Given the description of an element on the screen output the (x, y) to click on. 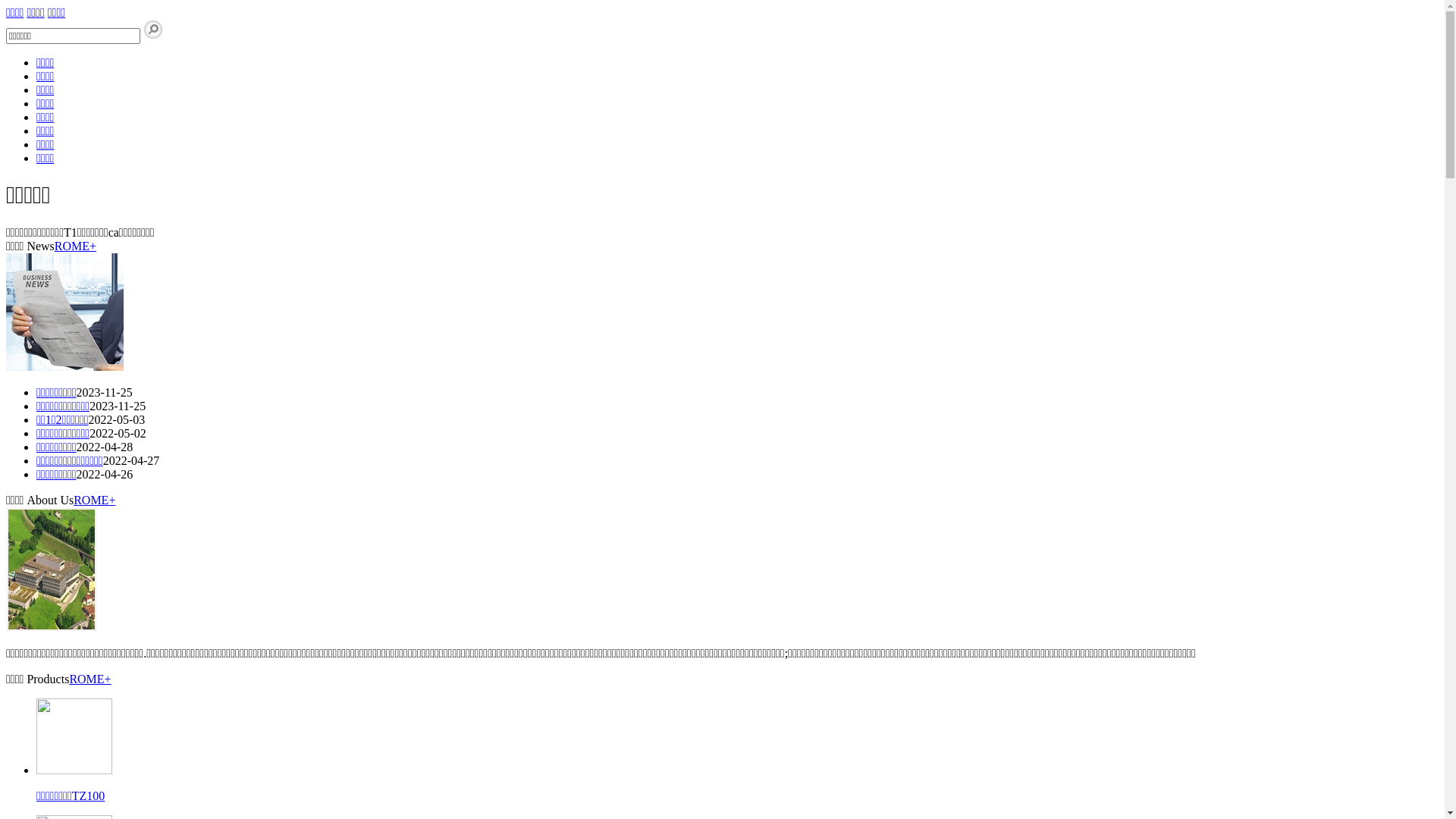
ROME+ Element type: text (94, 499)
ROME+ Element type: text (75, 245)
ROME+ Element type: text (89, 678)
